Given the description of an element on the screen output the (x, y) to click on. 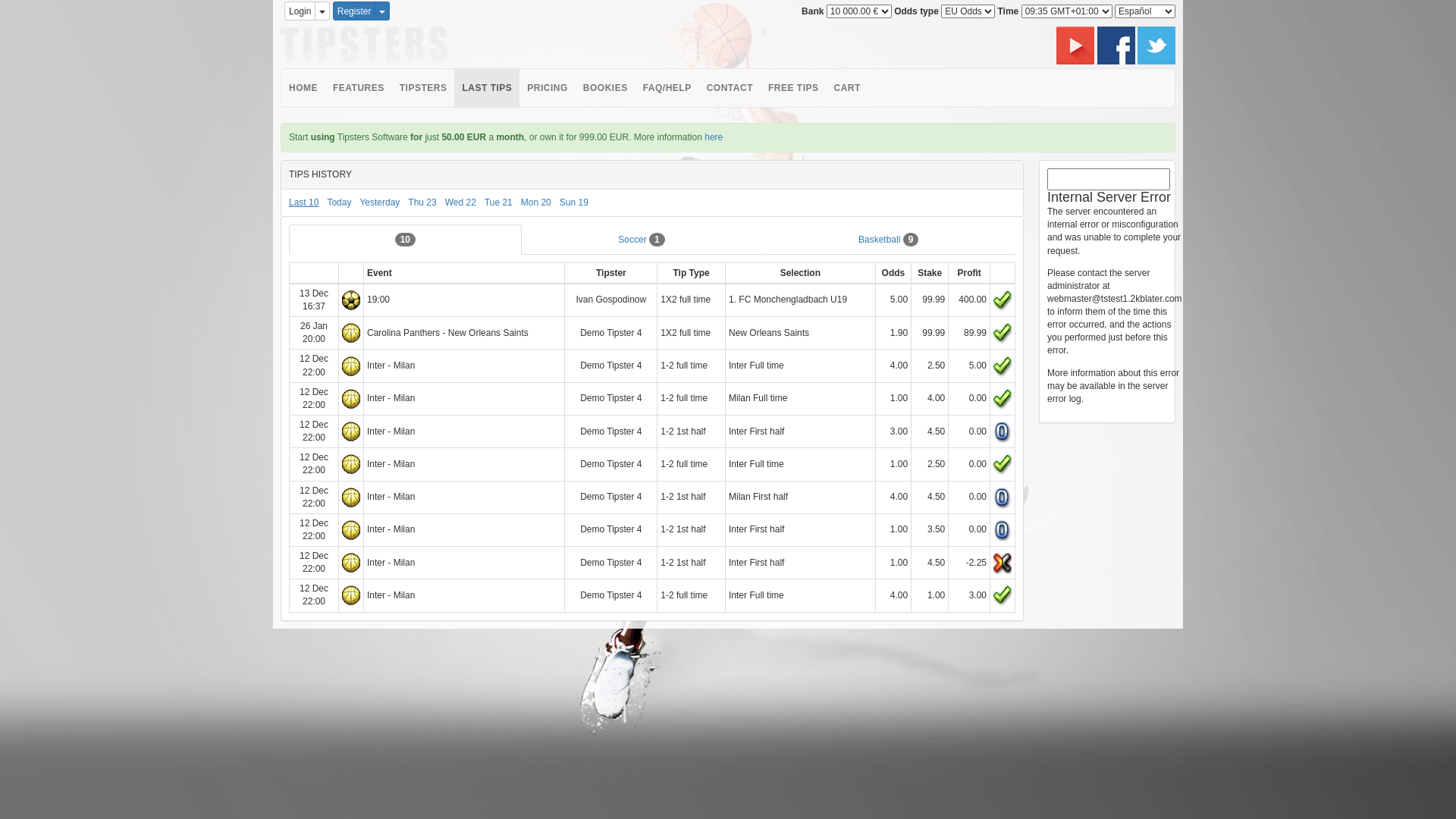
 on Twitter Element type: hover (1156, 44)
Register Element type: text (354, 10)
BOOKIES Element type: text (605, 87)
 on YouTube Element type: hover (1076, 44)
HOME Element type: text (303, 87)
Toggle Dropdown Element type: text (381, 10)
Tue 21 Element type: text (498, 202)
CART Element type: text (846, 87)
FEATURES Element type: text (358, 87)
Mon 20 Element type: text (535, 202)
Basketball 9 Element type: text (888, 239)
LAST TIPS Element type: text (486, 87)
10 Element type: text (404, 239)
Wed 22 Element type: text (460, 202)
Soccer 1 Element type: text (641, 239)
TIPSTERS Element type: text (423, 87)
FREE TIPS Element type: text (793, 87)
FAQ/HELP Element type: text (667, 87)
CONTACT Element type: text (729, 87)
here Element type: text (713, 136)
Yesterday Element type: text (379, 202)
Sun 19 Element type: text (573, 202)
Last 10 Element type: text (303, 202)
Toggle Dropdown Element type: text (321, 10)
 Logo Element type: hover (363, 45)
Login Element type: text (299, 10)
Today Element type: text (338, 202)
 on Facebook Element type: hover (1117, 44)
Thu 23 Element type: text (421, 202)
PRICING Element type: text (547, 87)
